Given the description of an element on the screen output the (x, y) to click on. 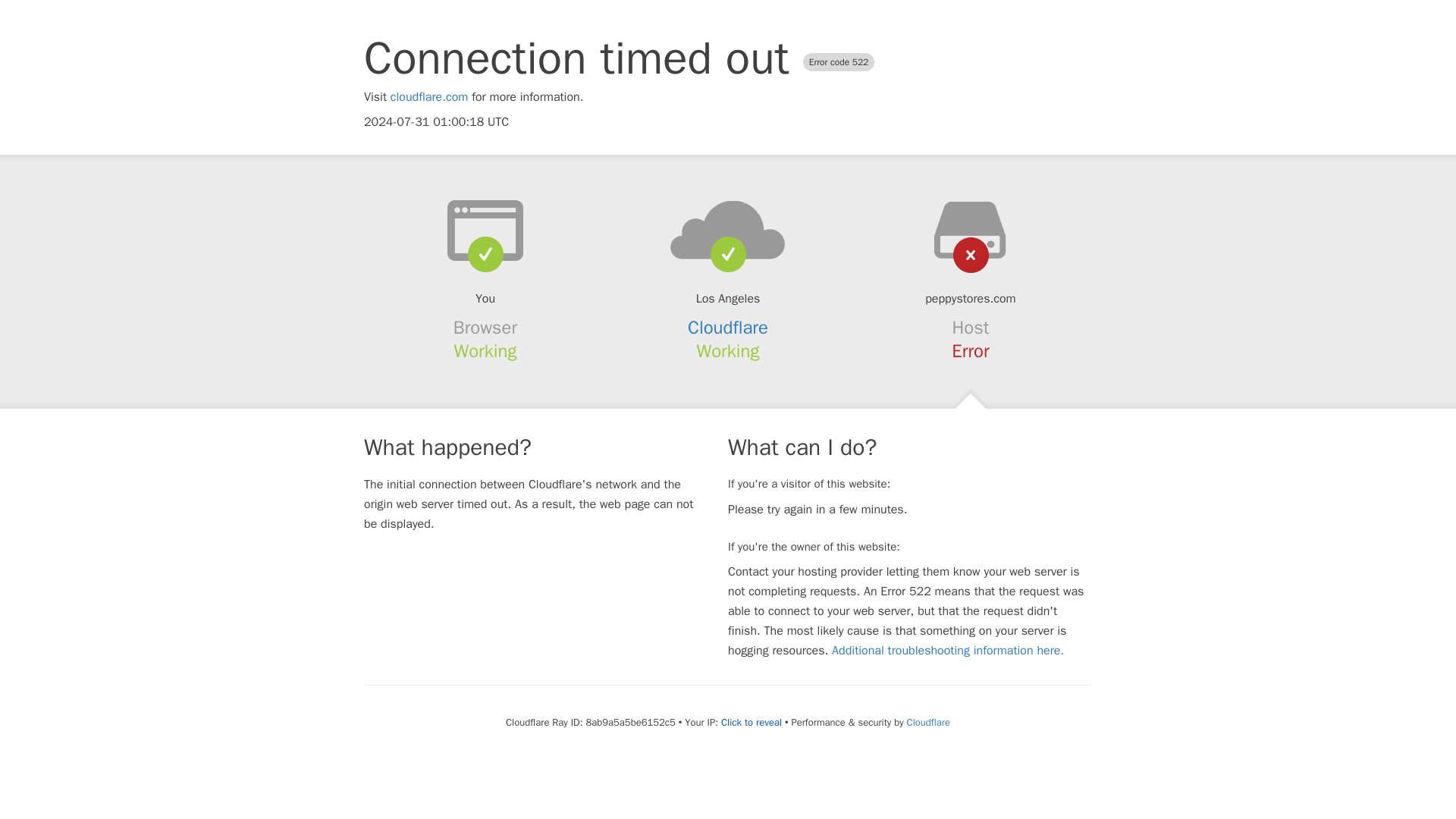
cloudflare.com (429, 96)
Cloudflare (727, 327)
Cloudflare (928, 721)
Additional troubleshooting information here. (947, 650)
Click to reveal (750, 722)
